Given the description of an element on the screen output the (x, y) to click on. 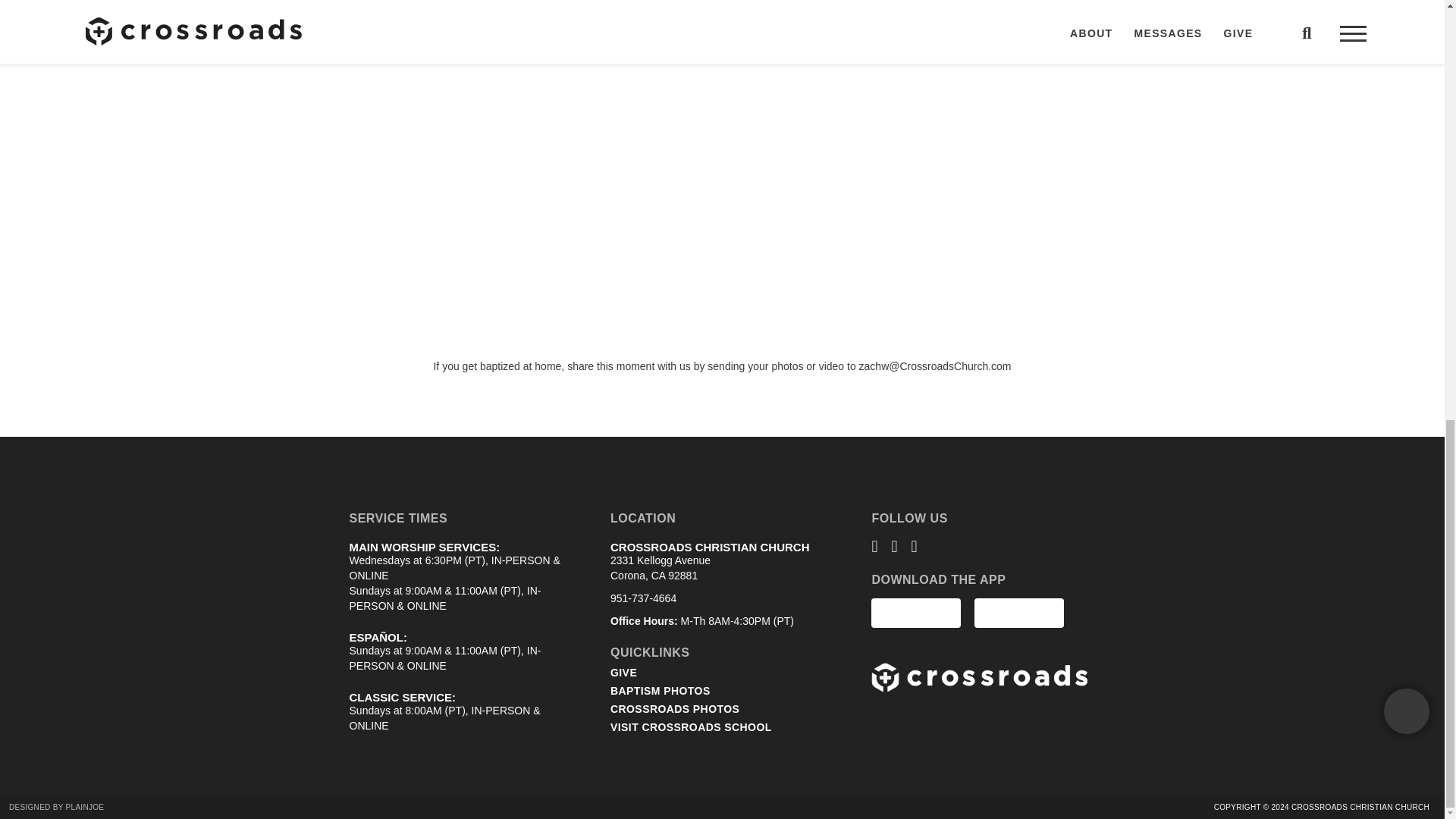
Designed by PlainJoe (55, 807)
